Given the description of an element on the screen output the (x, y) to click on. 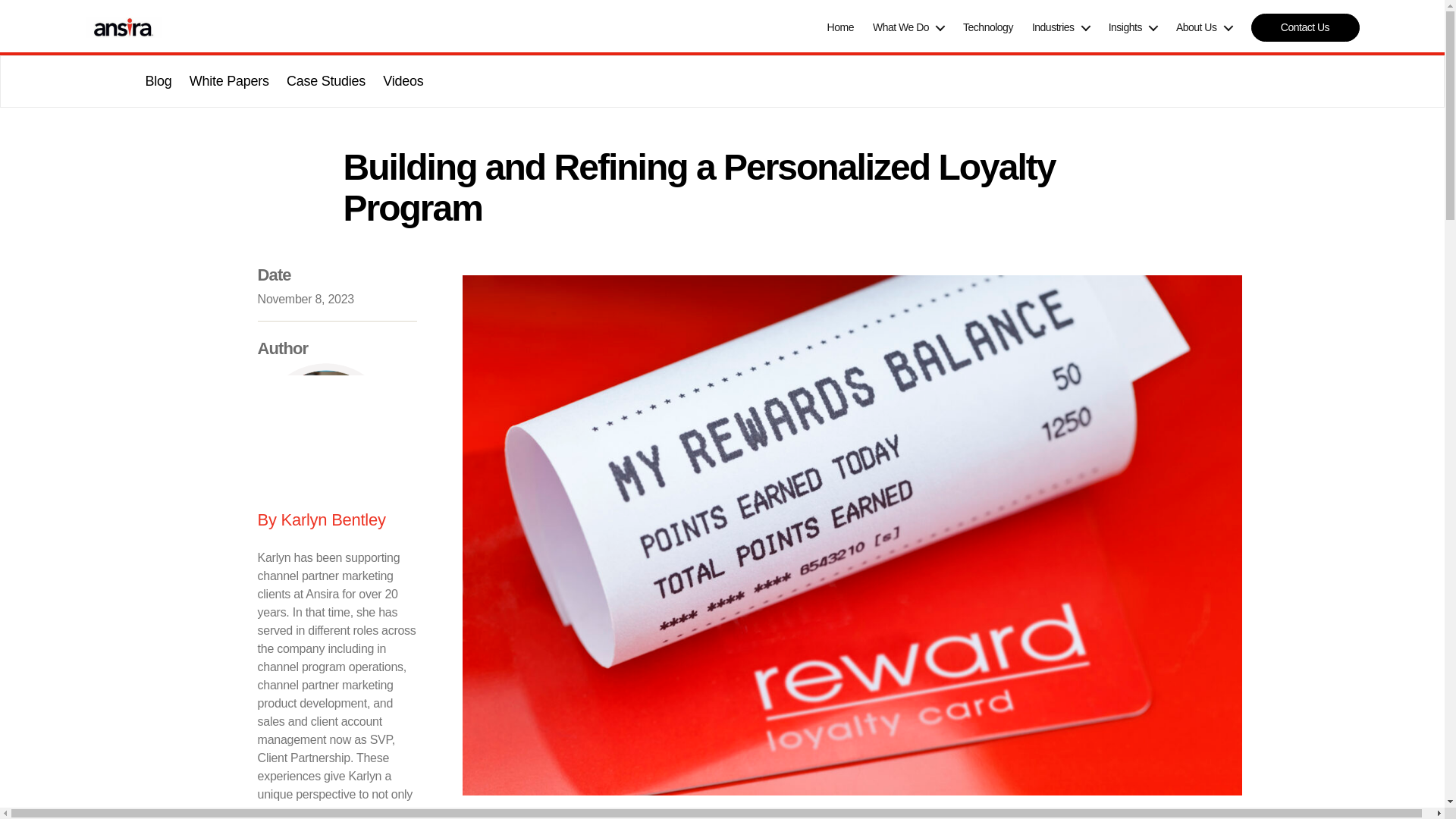
Home (840, 27)
Videos (402, 80)
What We Do (907, 27)
Case Studies (325, 80)
Technology (987, 27)
White Papers (229, 80)
Contact Us (1304, 27)
Blog (158, 80)
Industries (1060, 27)
Insights (1132, 27)
About Us (1203, 27)
